Given the description of an element on the screen output the (x, y) to click on. 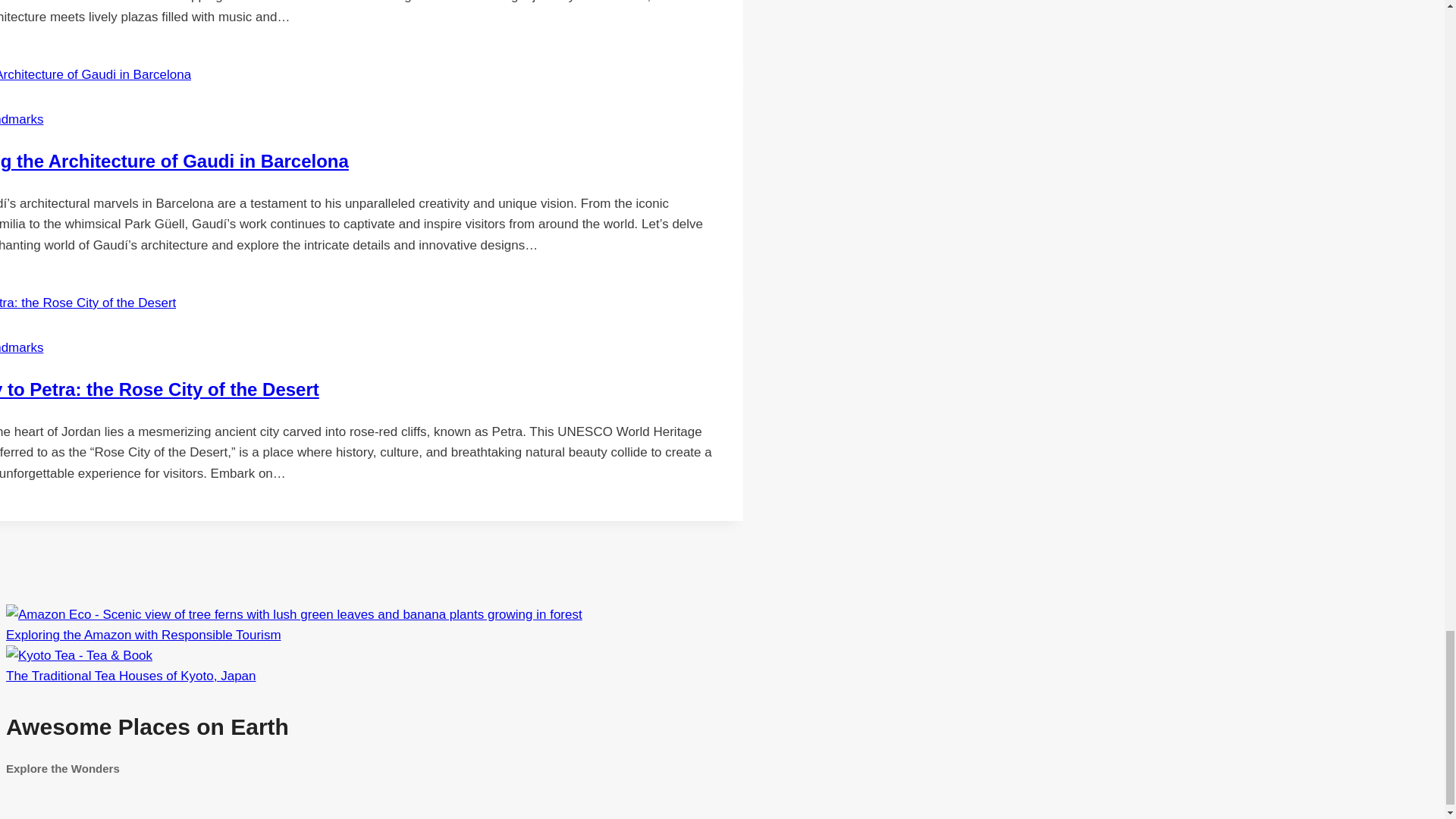
Exploring the Amazon with Responsible Tourism (293, 614)
Cultural Landmarks (21, 347)
Cultural Landmarks (21, 119)
Exploring the Amazon with Responsible Tourism (143, 635)
Admiring the Architecture of Gaudi in Barcelona (174, 160)
The Traditional Tea Houses of Kyoto, Japan (130, 676)
Journey to Petra: the Rose City of the Desert (159, 389)
The Traditional Tea Houses of Kyoto, Japan (494, 743)
